Given the description of an element on the screen output the (x, y) to click on. 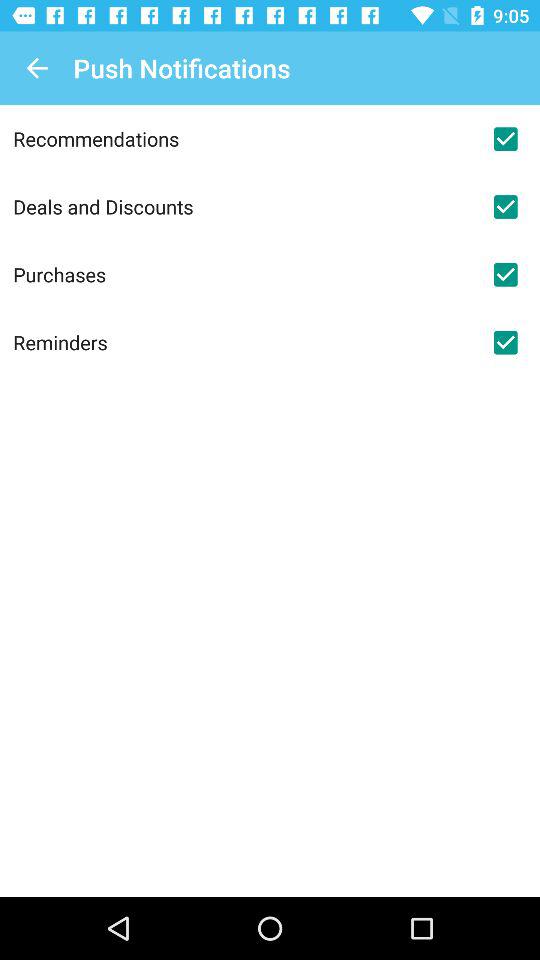
scroll until recommendations (242, 138)
